Given the description of an element on the screen output the (x, y) to click on. 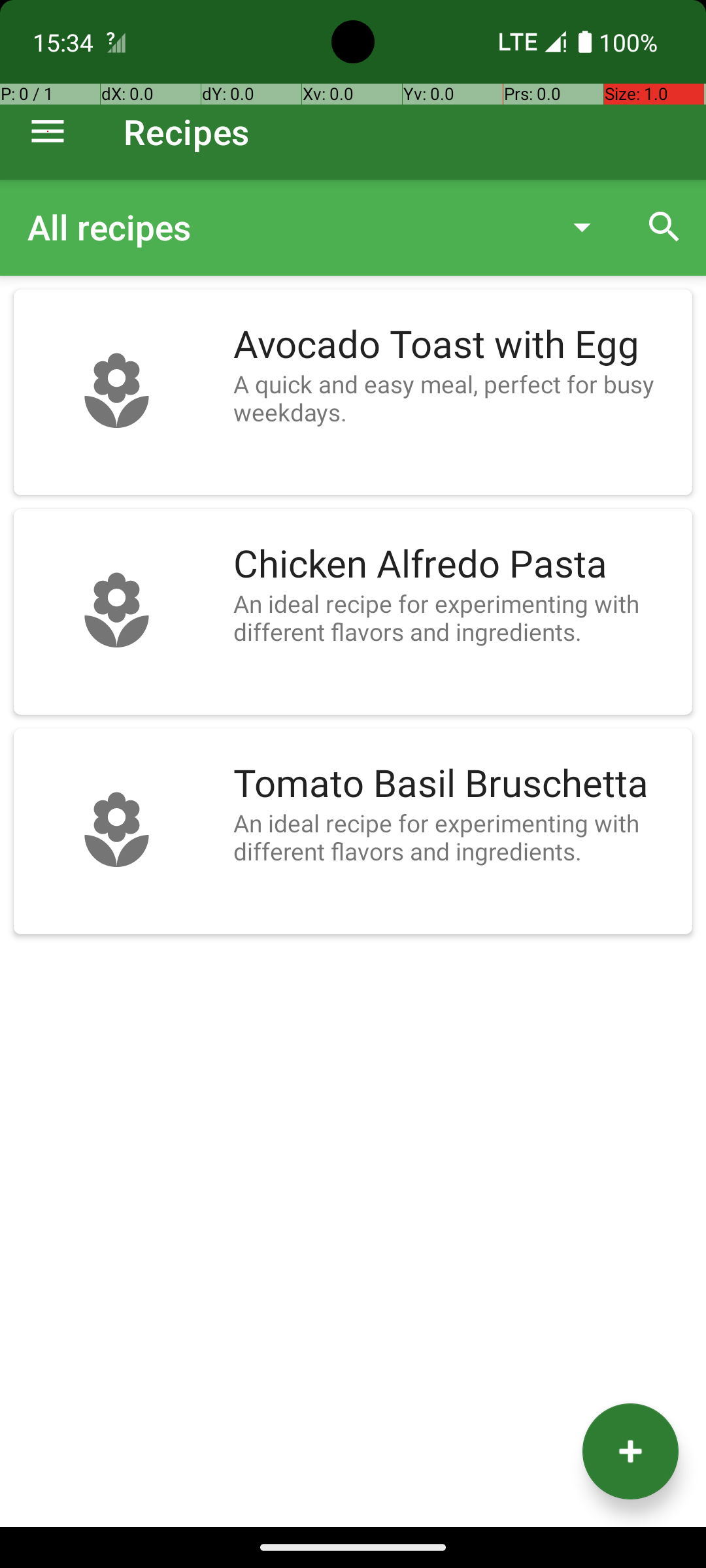
Tomato Basil Bruschetta Element type: android.widget.TextView (455, 783)
